Given the description of an element on the screen output the (x, y) to click on. 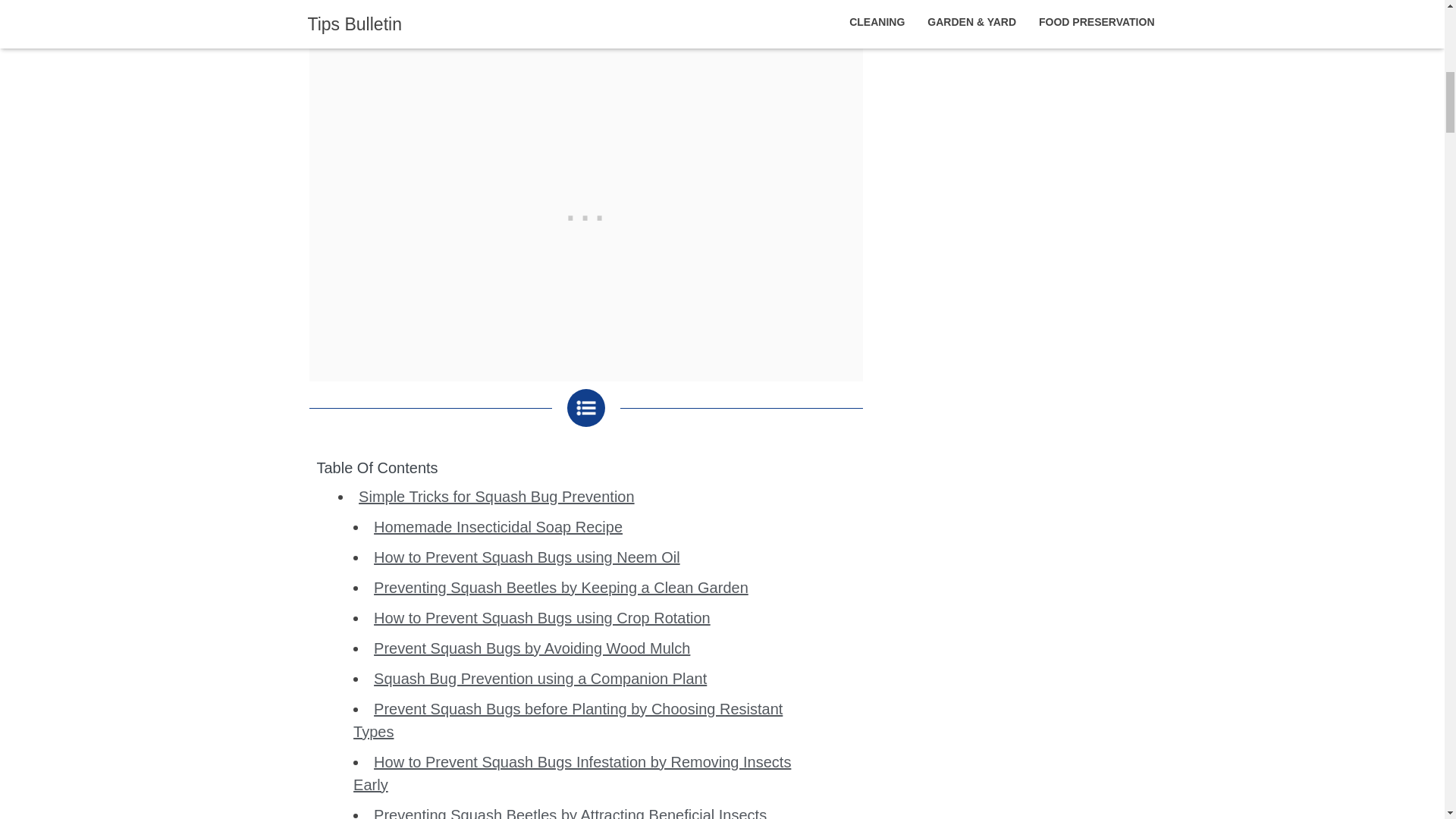
How to Prevent Squash Bugs using Crop Rotation (542, 617)
Preventing Squash Beetles by Keeping a Clean Garden (561, 587)
Prevent Squash Bugs by Avoiding Wood Mulch (532, 647)
Preventing Squash Beetles by Attracting Beneficial Insects (570, 812)
How to Prevent Squash Bugs using Neem Oil (526, 556)
Simple Tricks for Squash Bug Prevention (496, 496)
Homemade Insecticidal Soap Recipe (498, 526)
Squash Bug Prevention using a Companion Plant (540, 678)
